Given the description of an element on the screen output the (x, y) to click on. 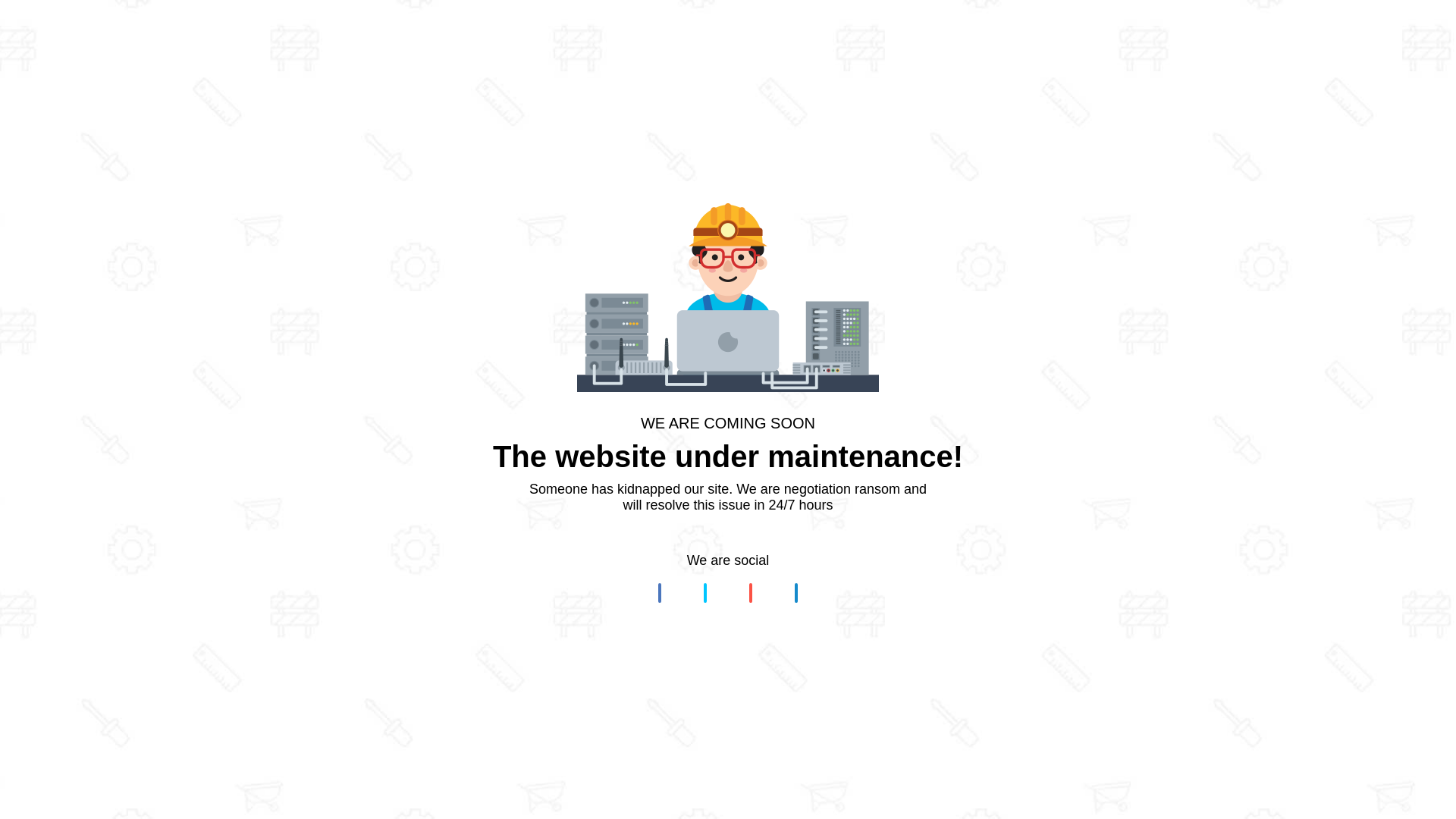
Facebook Element type: hover (659, 592)
Google Plus Element type: hover (750, 592)
LinkedIn Element type: hover (796, 592)
Twitter Element type: hover (705, 592)
